Given the description of an element on the screen output the (x, y) to click on. 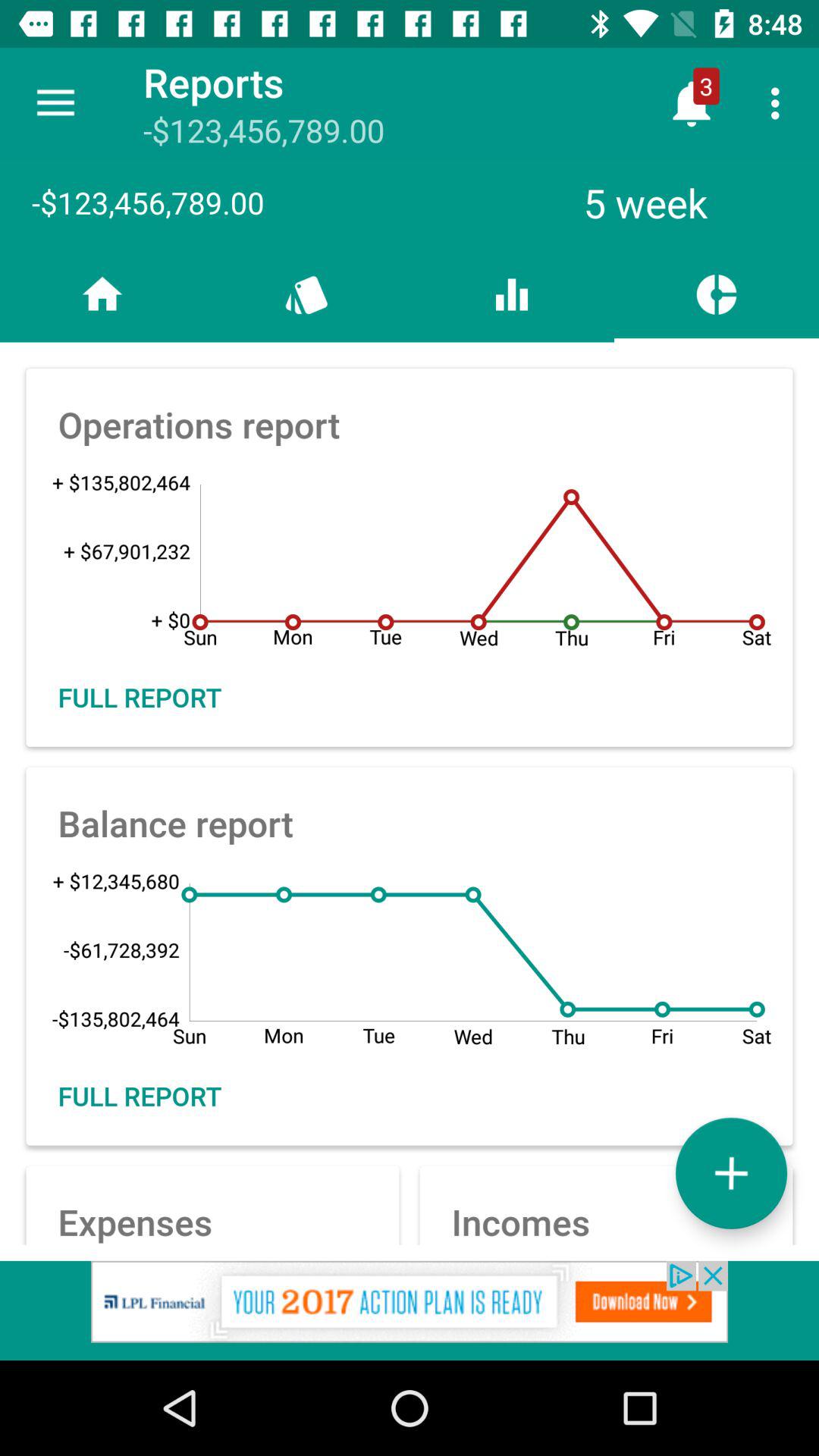
click to more option (731, 1173)
